Given the description of an element on the screen output the (x, y) to click on. 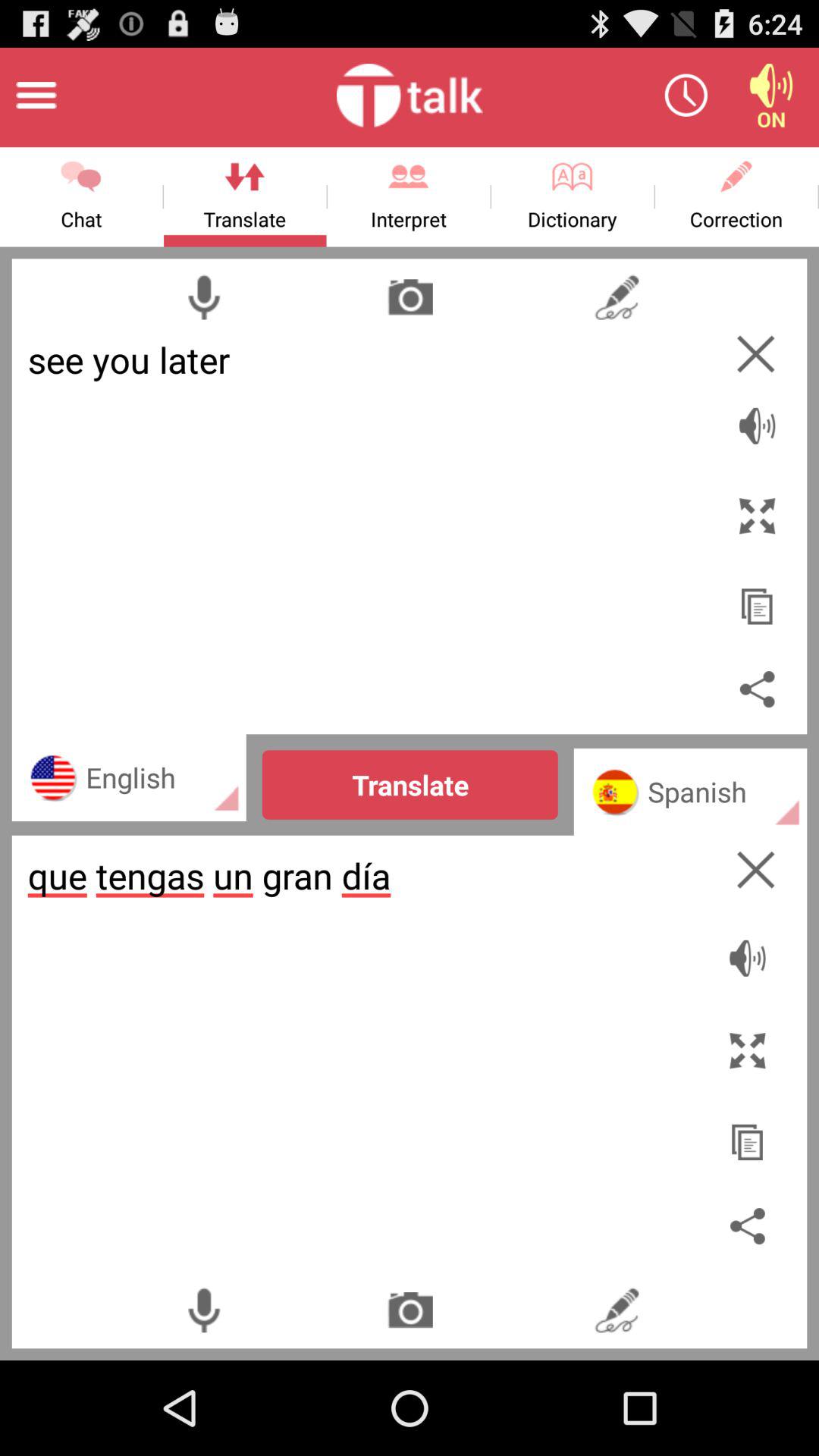
close current page (755, 869)
